Given the description of an element on the screen output the (x, y) to click on. 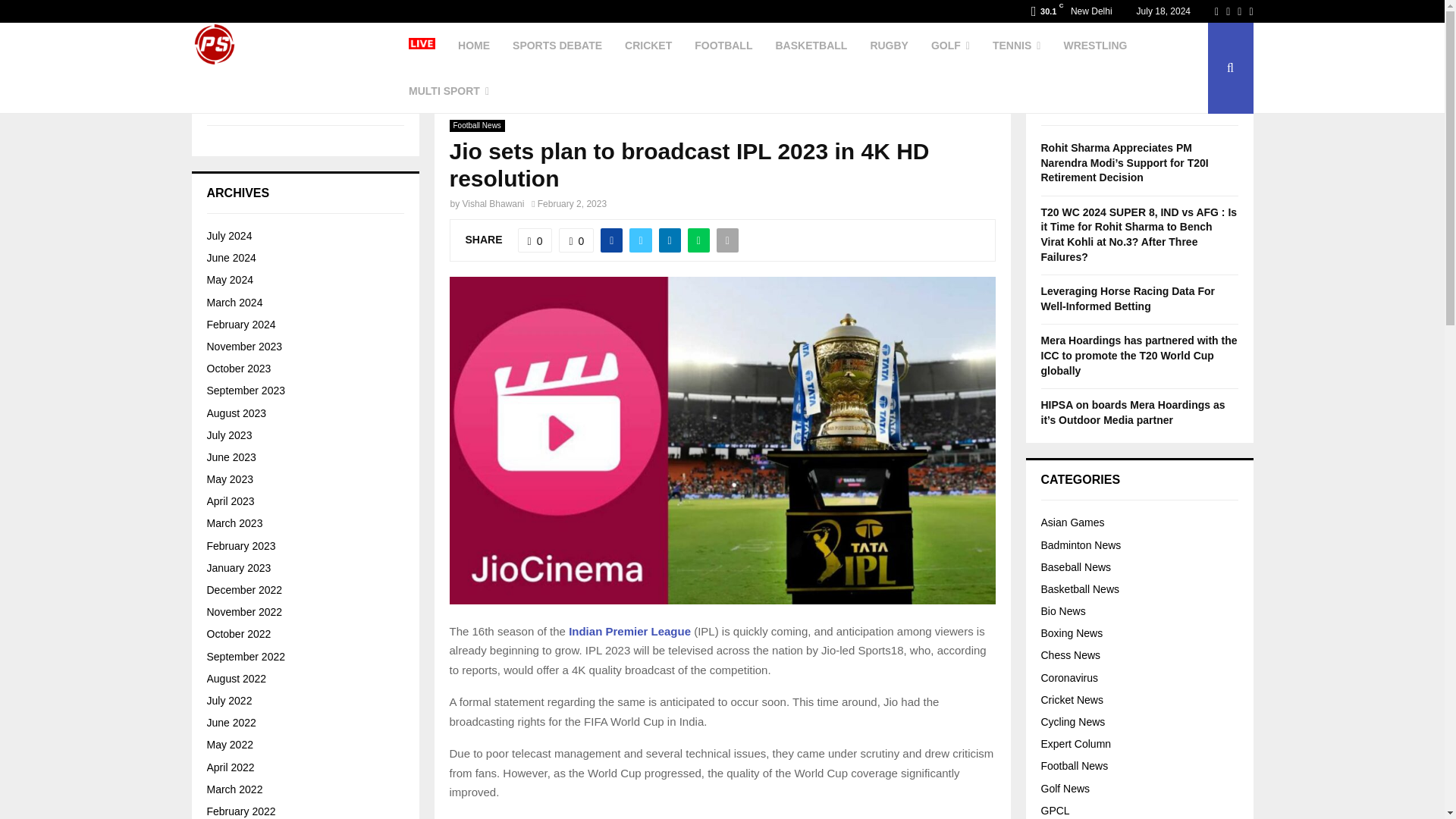
SPORTS DEBATE (557, 44)
FOOTBALL (723, 44)
CRICKET (647, 44)
TENNIS (1016, 44)
BASKETBALL (810, 44)
